Given the description of an element on the screen output the (x, y) to click on. 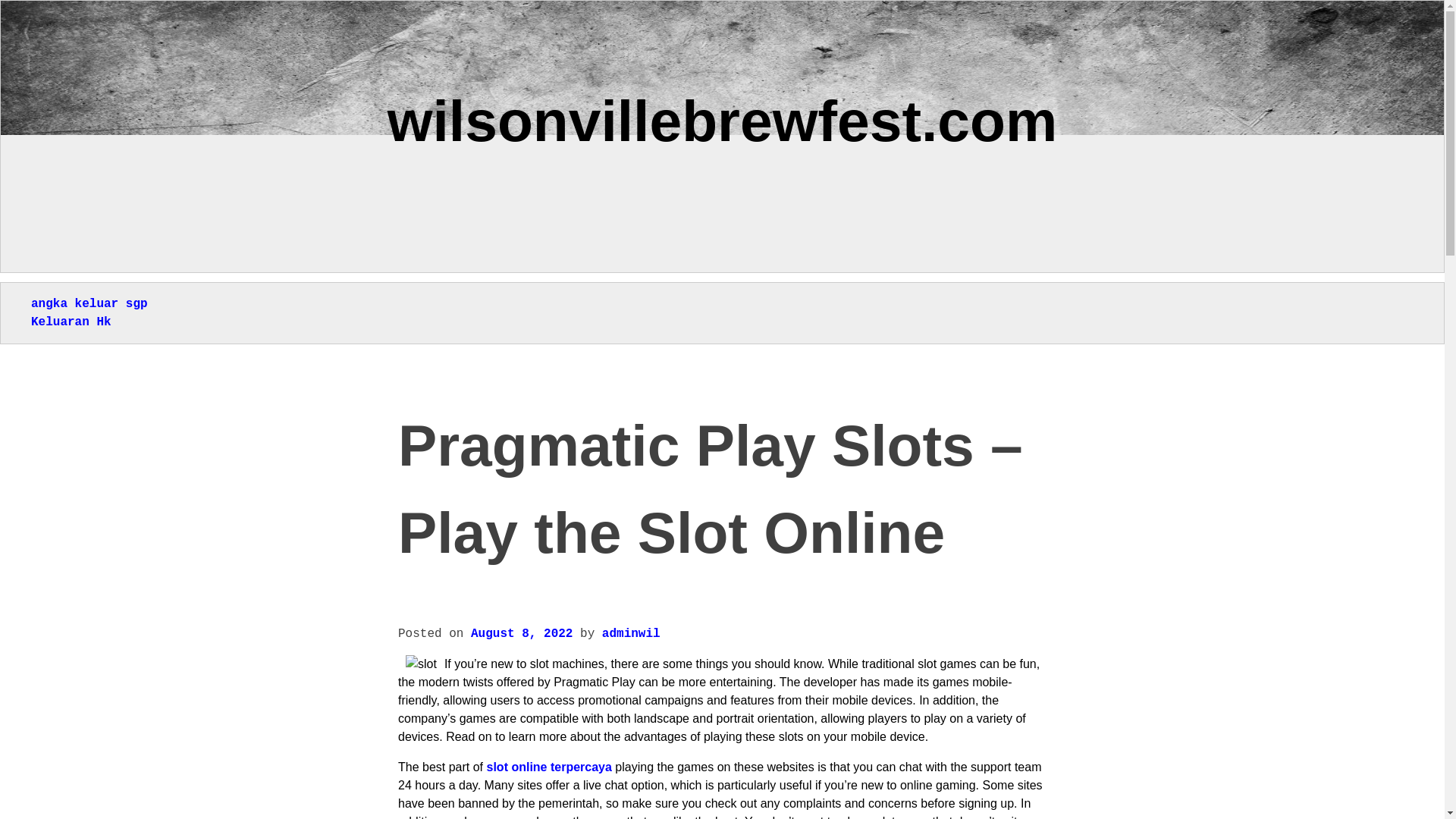
Keluaran Hk (71, 322)
wilsonvillebrewfest.com (722, 120)
adminwil (631, 633)
slot online terpercaya (548, 766)
angka keluar sgp (89, 304)
August 8, 2022 (521, 633)
